Given the description of an element on the screen output the (x, y) to click on. 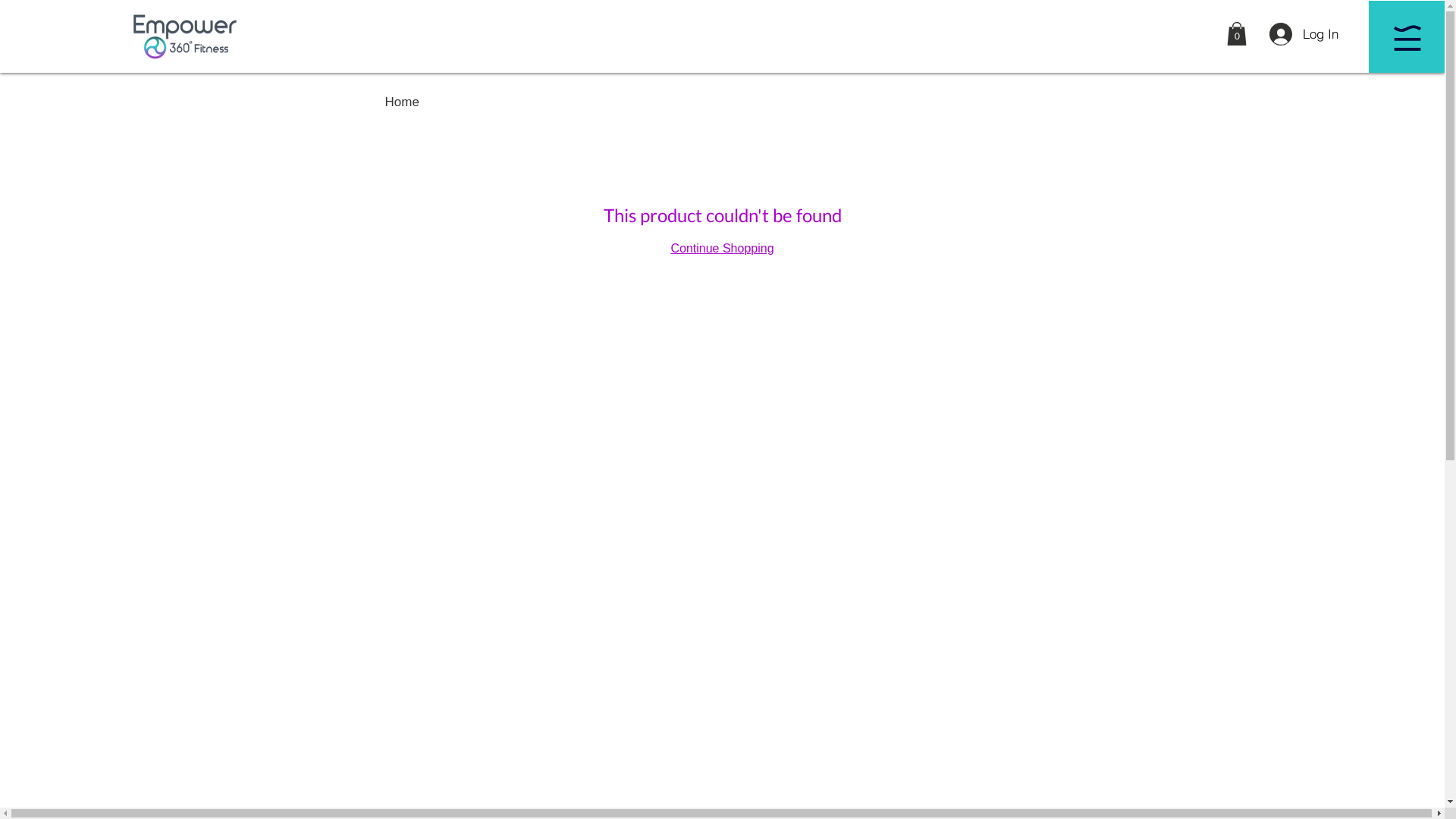
0 Element type: text (1236, 33)
Empower360Fitness logo Element type: hover (182, 36)
Home Element type: text (402, 101)
Log In Element type: text (1303, 34)
Continue Shopping Element type: text (721, 247)
